Given the description of an element on the screen output the (x, y) to click on. 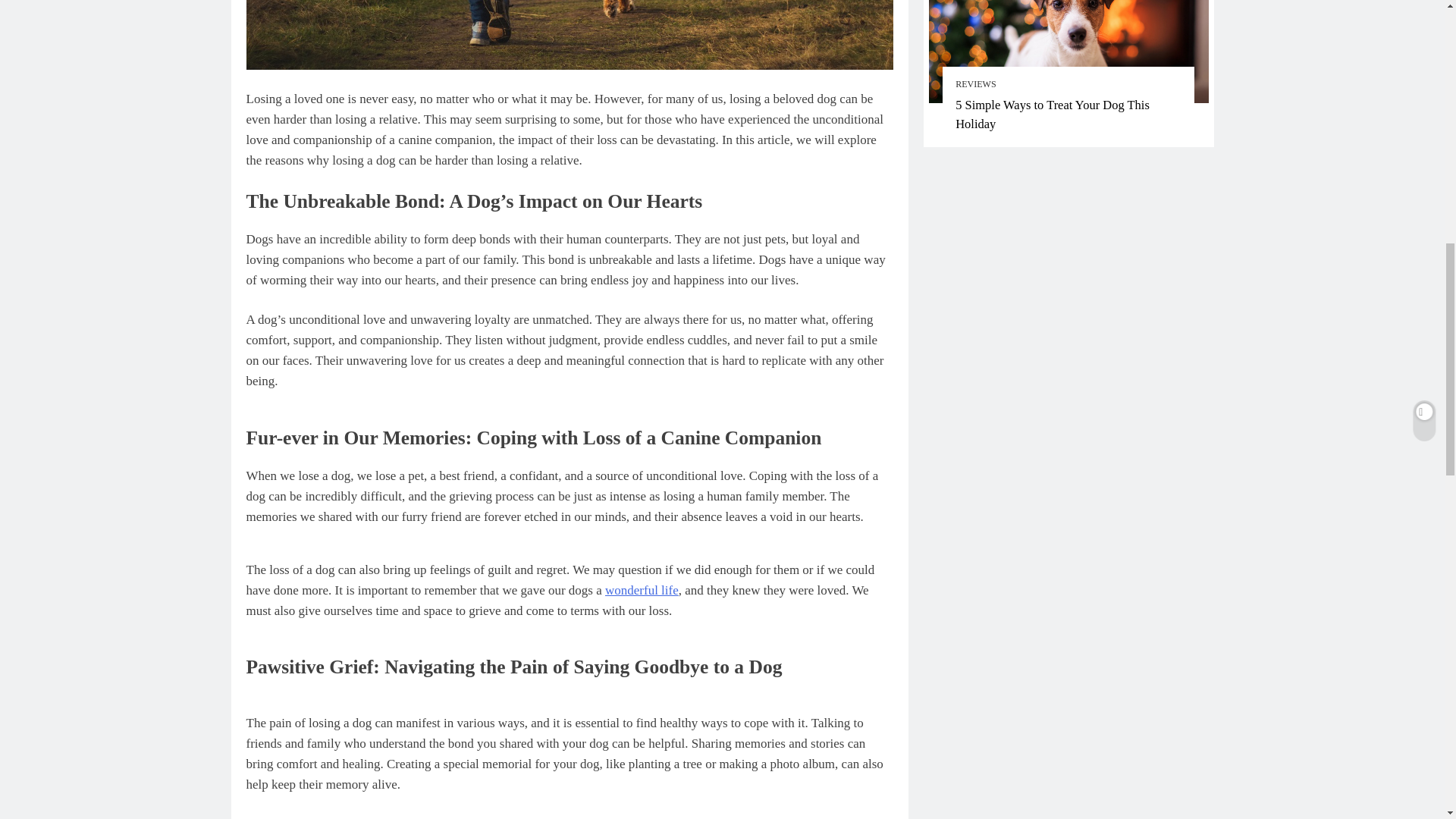
wonderful life (641, 590)
